Given the description of an element on the screen output the (x, y) to click on. 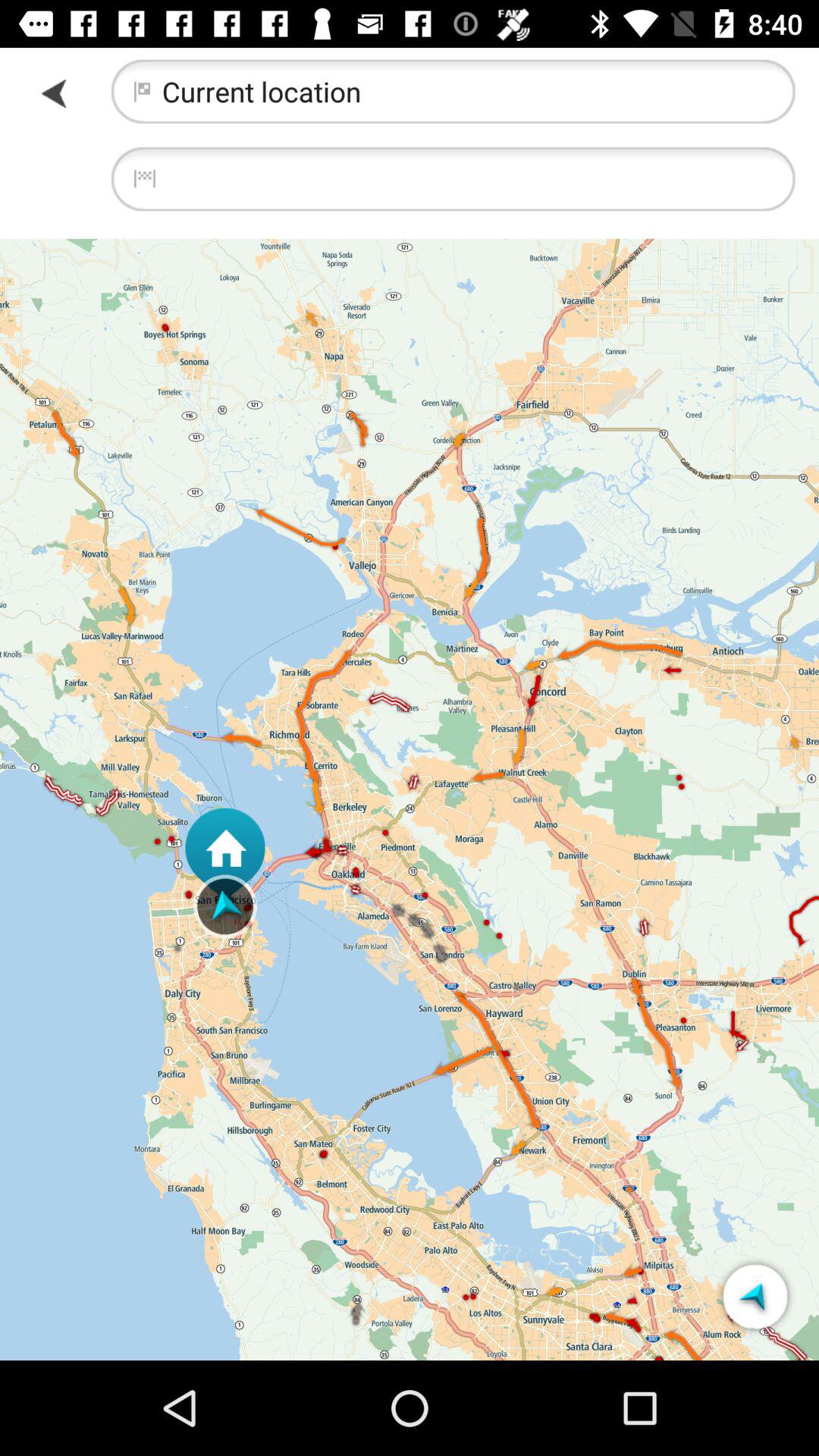
text search field (453, 179)
